Given the description of an element on the screen output the (x, y) to click on. 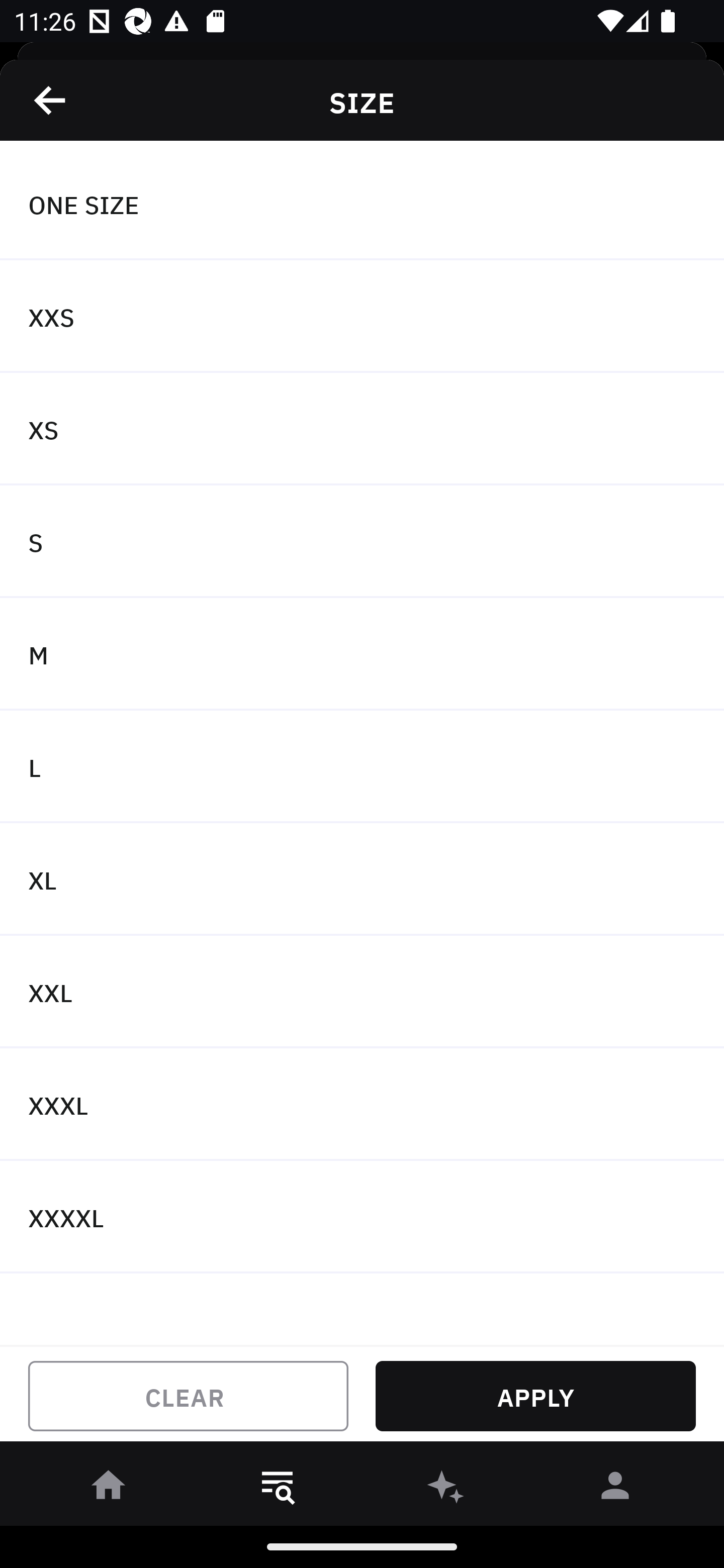
 (50, 100)
ONE SIZE (362, 203)
XXS (362, 316)
XS (362, 429)
S (362, 541)
M (362, 653)
L (362, 766)
XL (362, 879)
XXL (362, 992)
XXXL (362, 1104)
XXXXL (362, 1216)
CLEAR  (188, 1396)
APPLY (535, 1396)
󰋜 (108, 1488)
󱎸 (277, 1488)
󰫢 (446, 1488)
󰀄 (615, 1488)
